Given the description of an element on the screen output the (x, y) to click on. 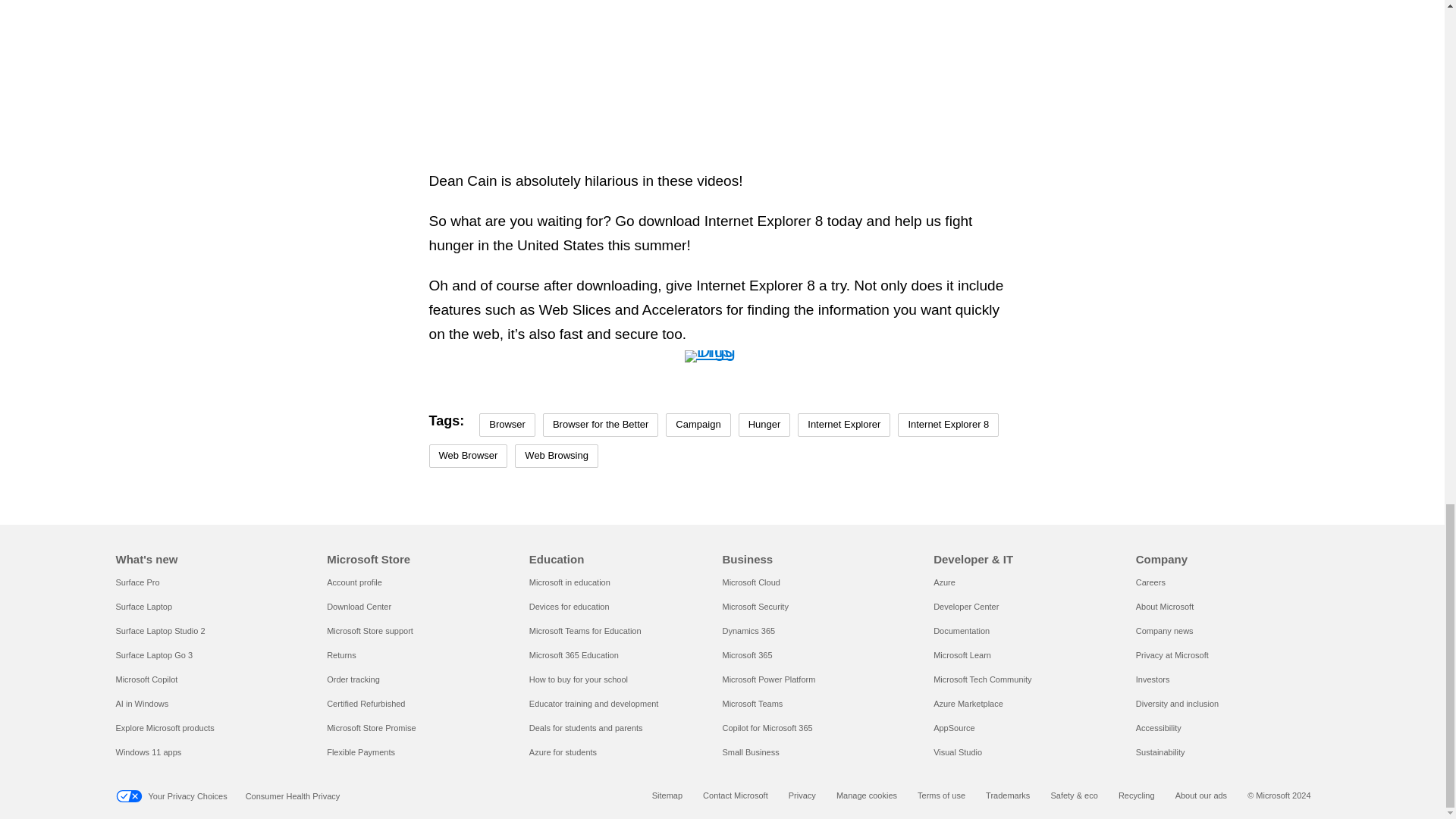
Internet Explorer 8 Tag (948, 424)
Internet Explorer Tag (843, 424)
Browser for the Better Tag (600, 424)
Digg This (722, 357)
Campaign Tag (697, 424)
Browser Tag (507, 424)
Hunger Tag (764, 424)
Web Browsing Tag (556, 455)
Web Browser Tag (468, 455)
